Given the description of an element on the screen output the (x, y) to click on. 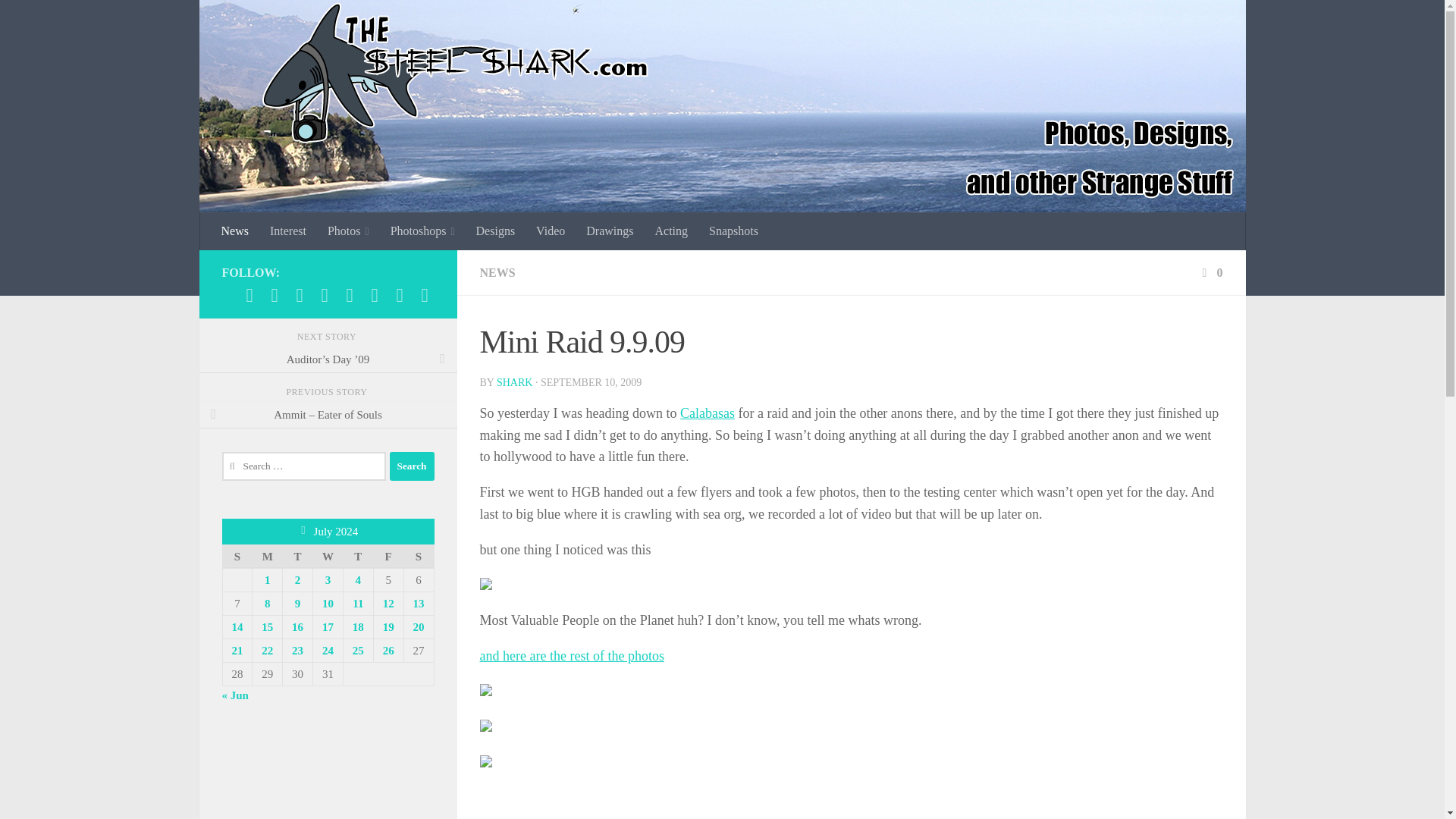
SHARK (514, 382)
Monday (266, 556)
Become a Patron (298, 294)
Follow on Youtube (374, 294)
Calabasas (707, 412)
Designs (495, 231)
Video (550, 231)
Drawings (609, 231)
News (235, 231)
Follow on Facebook (249, 294)
Skip to content (59, 20)
Photos (348, 231)
Follow on Twitter (324, 294)
Photoshops (422, 231)
Follow us on Tiktok (348, 294)
